Given the description of an element on the screen output the (x, y) to click on. 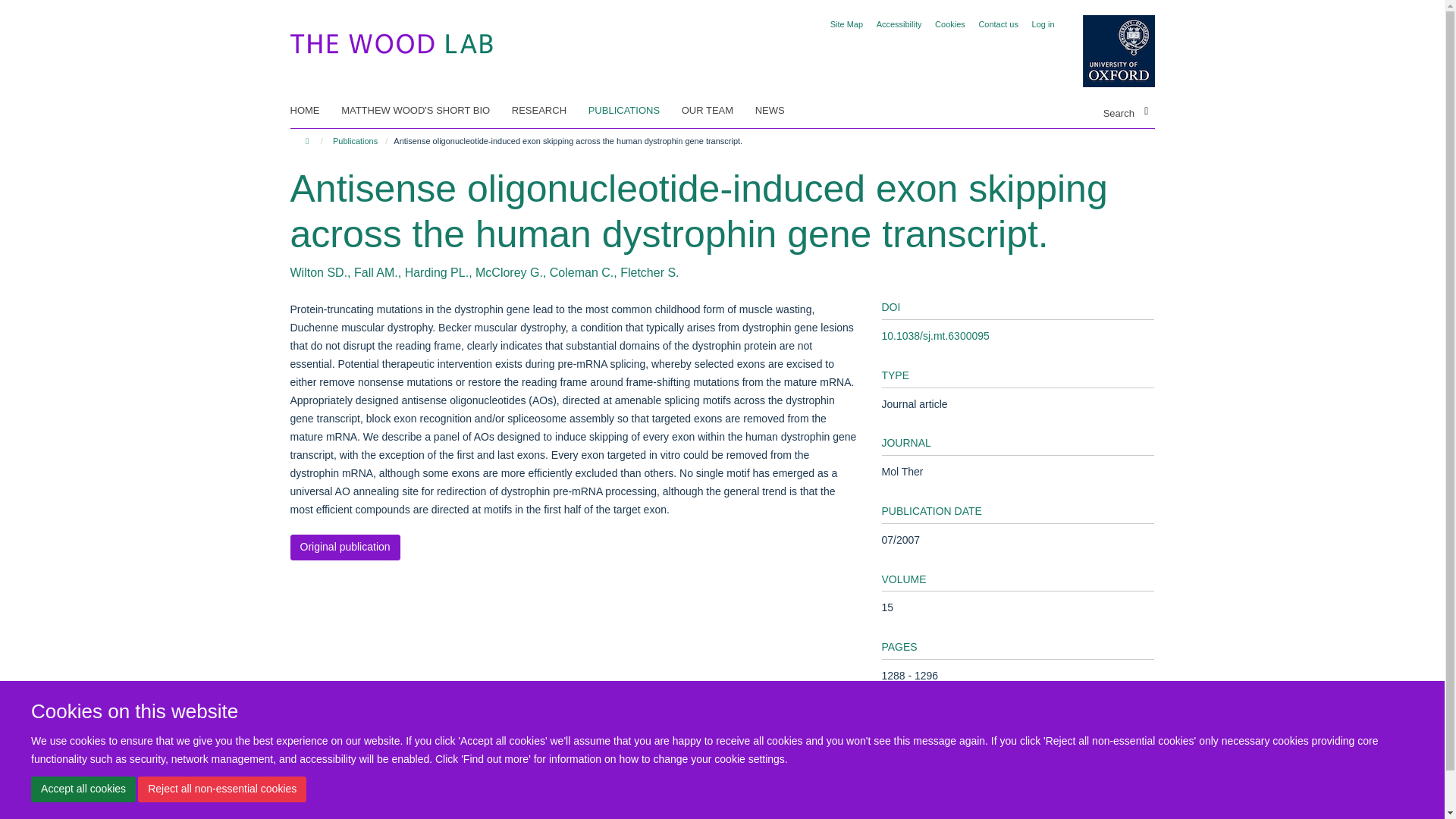
Matthew Woods Group (391, 40)
MATTHEW WOOD'S SHORT BIO (424, 110)
University of Oxford (1106, 50)
Reject all non-essential cookies (221, 789)
RESEARCH (548, 110)
PUBLICATIONS (633, 110)
Site Map (846, 23)
Accept all cookies (82, 789)
Cookies (949, 23)
Accessibility (898, 23)
HOME (313, 110)
NEWS (779, 110)
Contact us (997, 23)
OUR TEAM (716, 110)
